Given the description of an element on the screen output the (x, y) to click on. 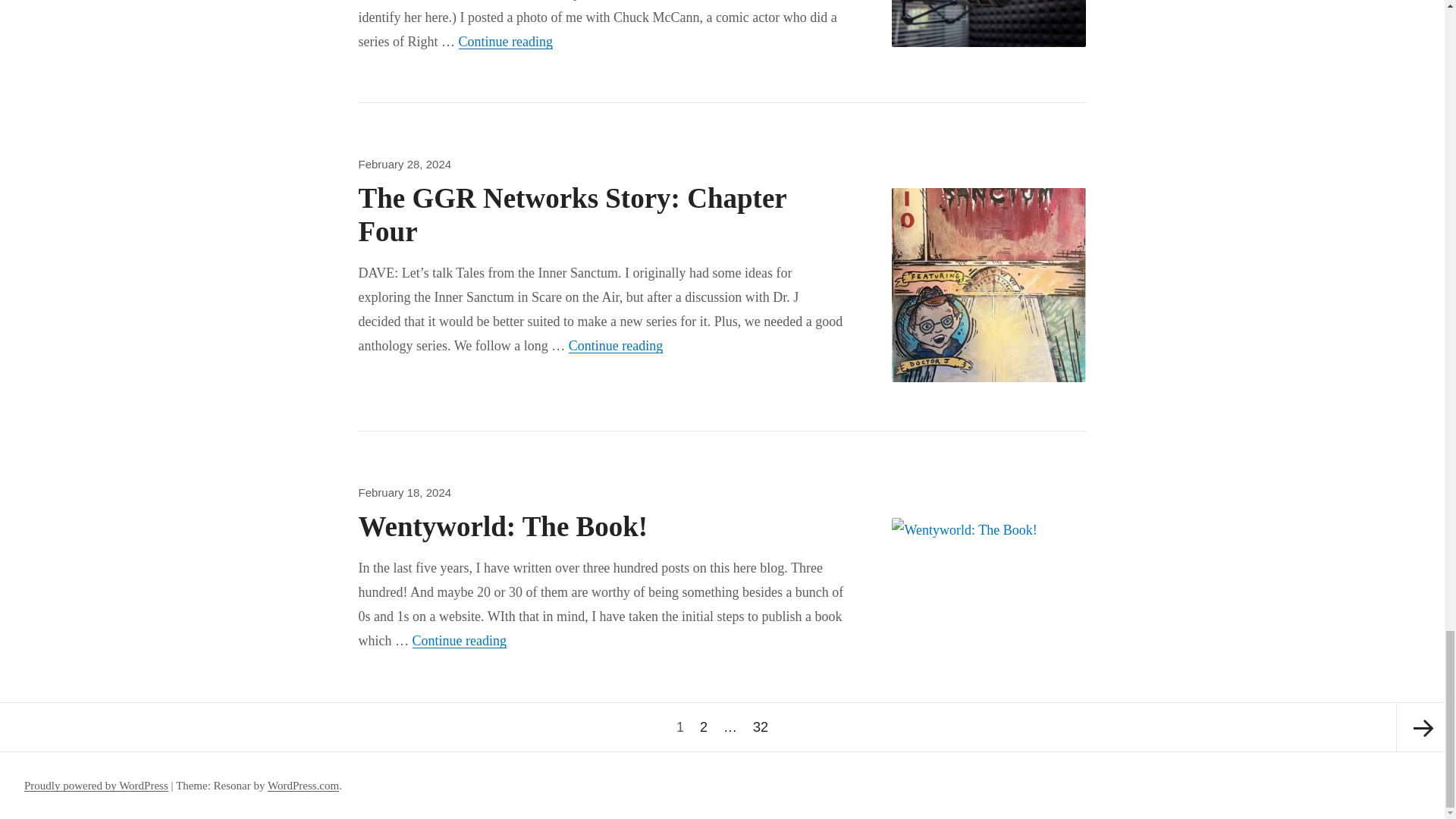
February 28, 2024 (615, 345)
The GGR Networks Story: Chapter Four (504, 41)
